Given the description of an element on the screen output the (x, y) to click on. 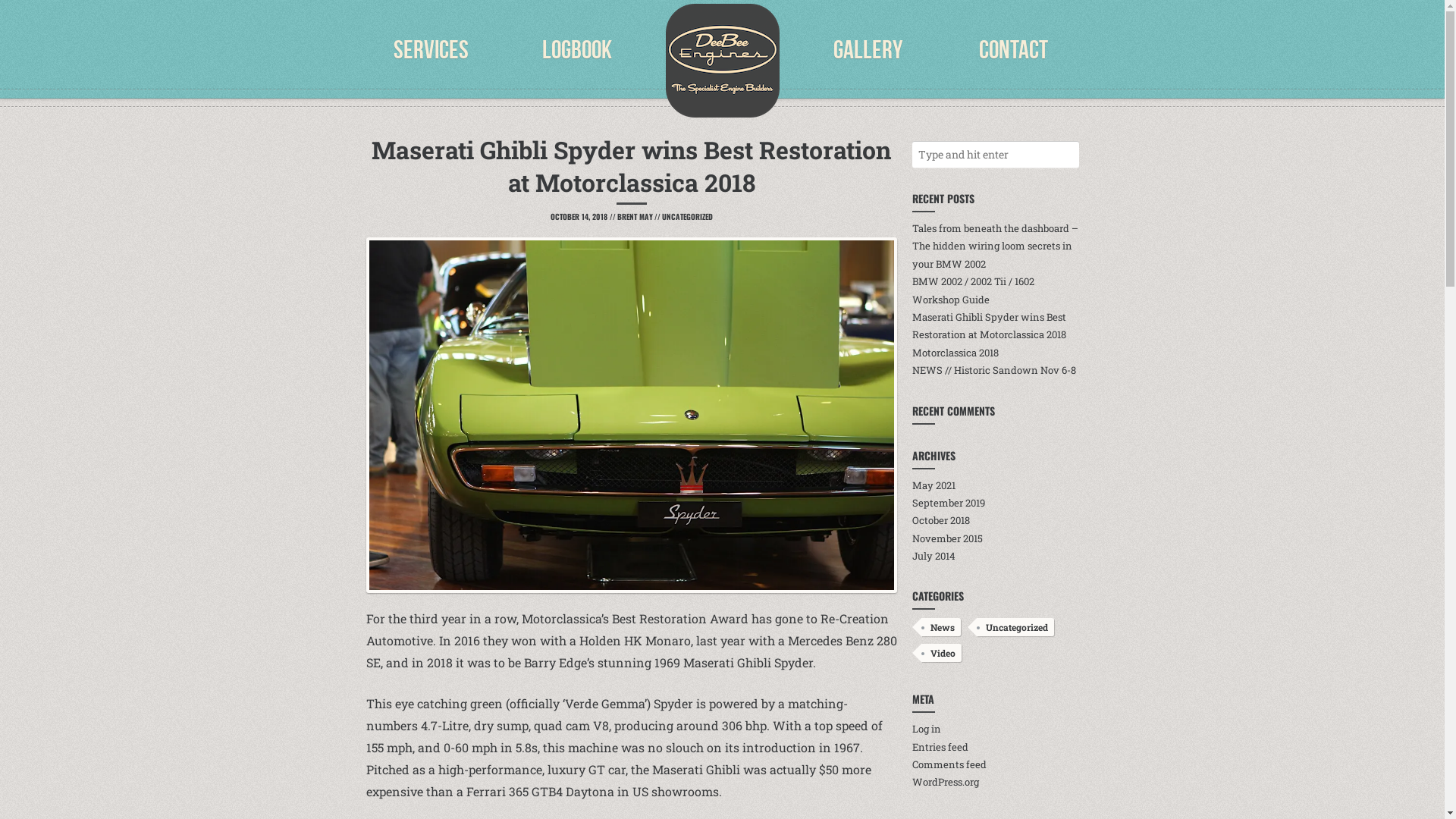
May 2021 Element type: text (932, 485)
Uncategorized Element type: text (1015, 627)
Comments feed Element type: text (948, 764)
SERVICES Element type: text (430, 49)
November 2015 Element type: text (946, 538)
News Element type: text (940, 627)
LOGBOOK Element type: text (576, 49)
July 2014 Element type: text (932, 555)
BRENT MAY Element type: text (634, 216)
September 2019 Element type: text (947, 502)
Log in Element type: text (925, 728)
GALLERY Element type: text (867, 49)
CONTACT Element type: text (1013, 49)
Entries feed Element type: text (939, 746)
NEWS // Historic Sandown Nov 6-8 Element type: text (993, 369)
BMW 2002 / 2002 Tii / 1602 Workshop Guide Element type: text (972, 289)
UNCATEGORIZED Element type: text (686, 216)
SPECIALIST ENGINE BUILDERS // DEEBEE ENGINES Element type: text (722, 60)
October 2018 Element type: text (940, 520)
WordPress.org Element type: text (944, 781)
Motorclassica 2018 Element type: text (954, 352)
Video Element type: text (940, 652)
